Given the description of an element on the screen output the (x, y) to click on. 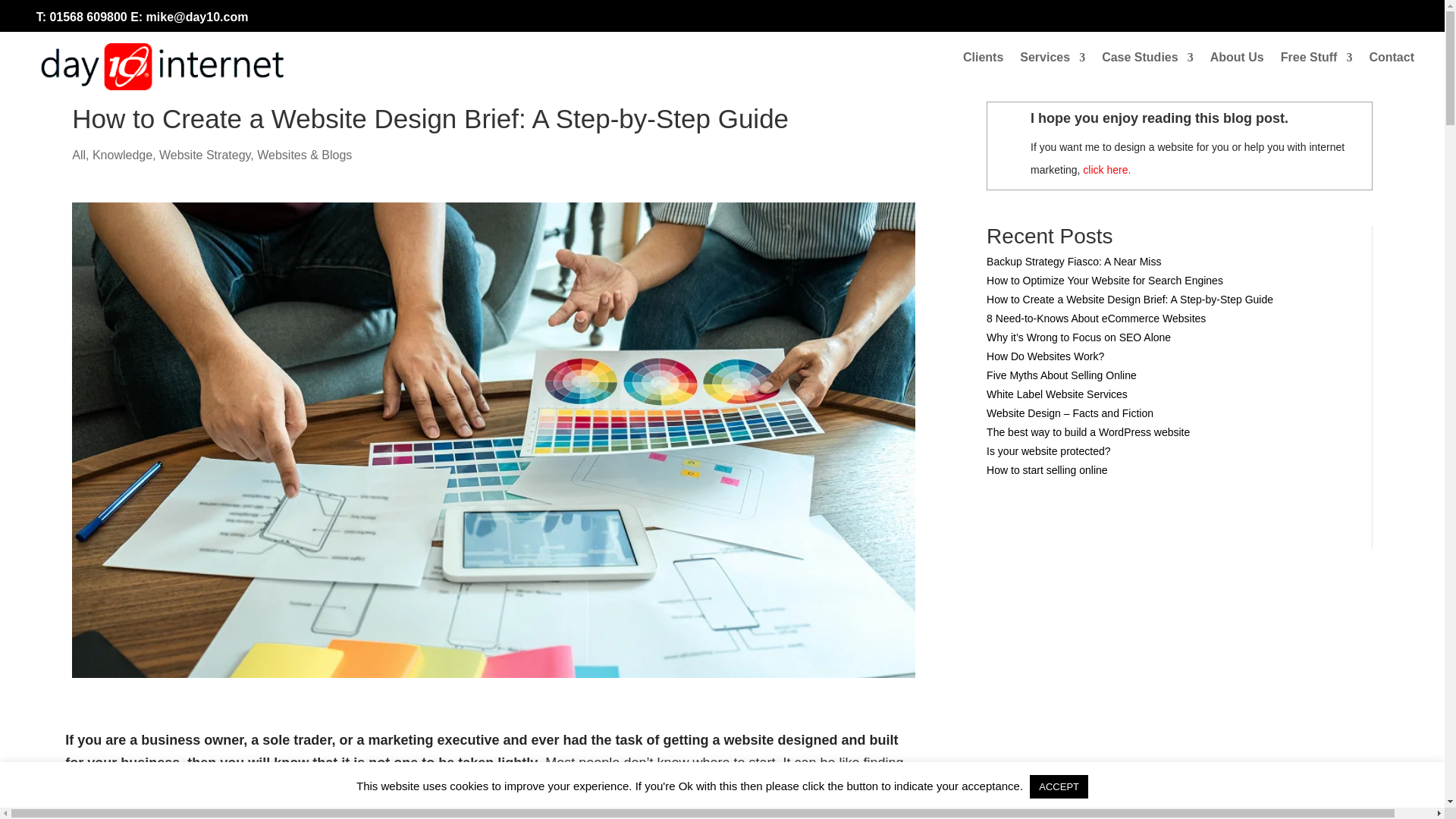
Free Stuff (1316, 60)
About Us (1236, 60)
Clients (982, 60)
Contact (1390, 60)
Services (1052, 60)
Case Studies (1147, 60)
